Given the description of an element on the screen output the (x, y) to click on. 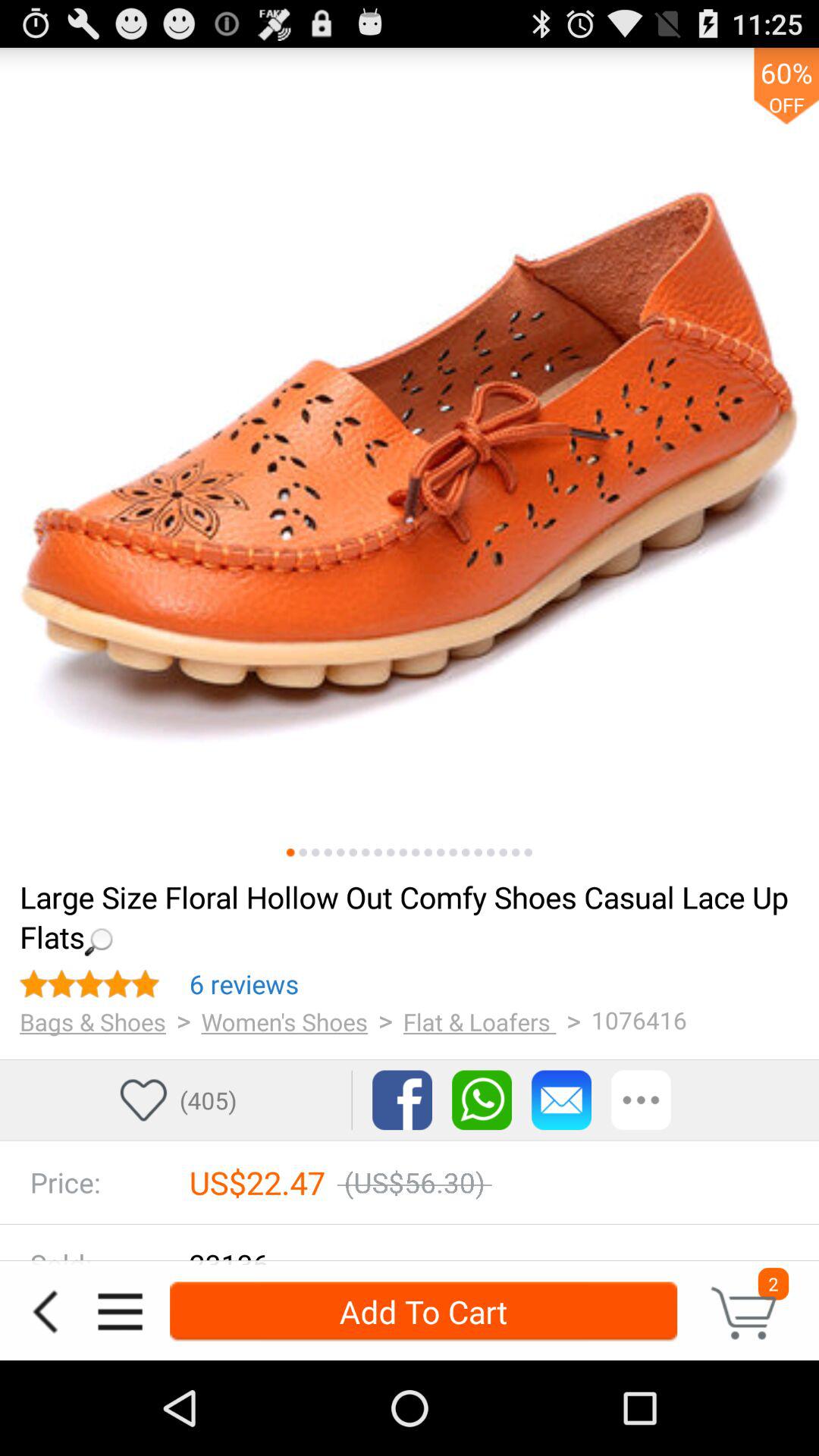
facebook share (402, 1100)
